Given the description of an element on the screen output the (x, y) to click on. 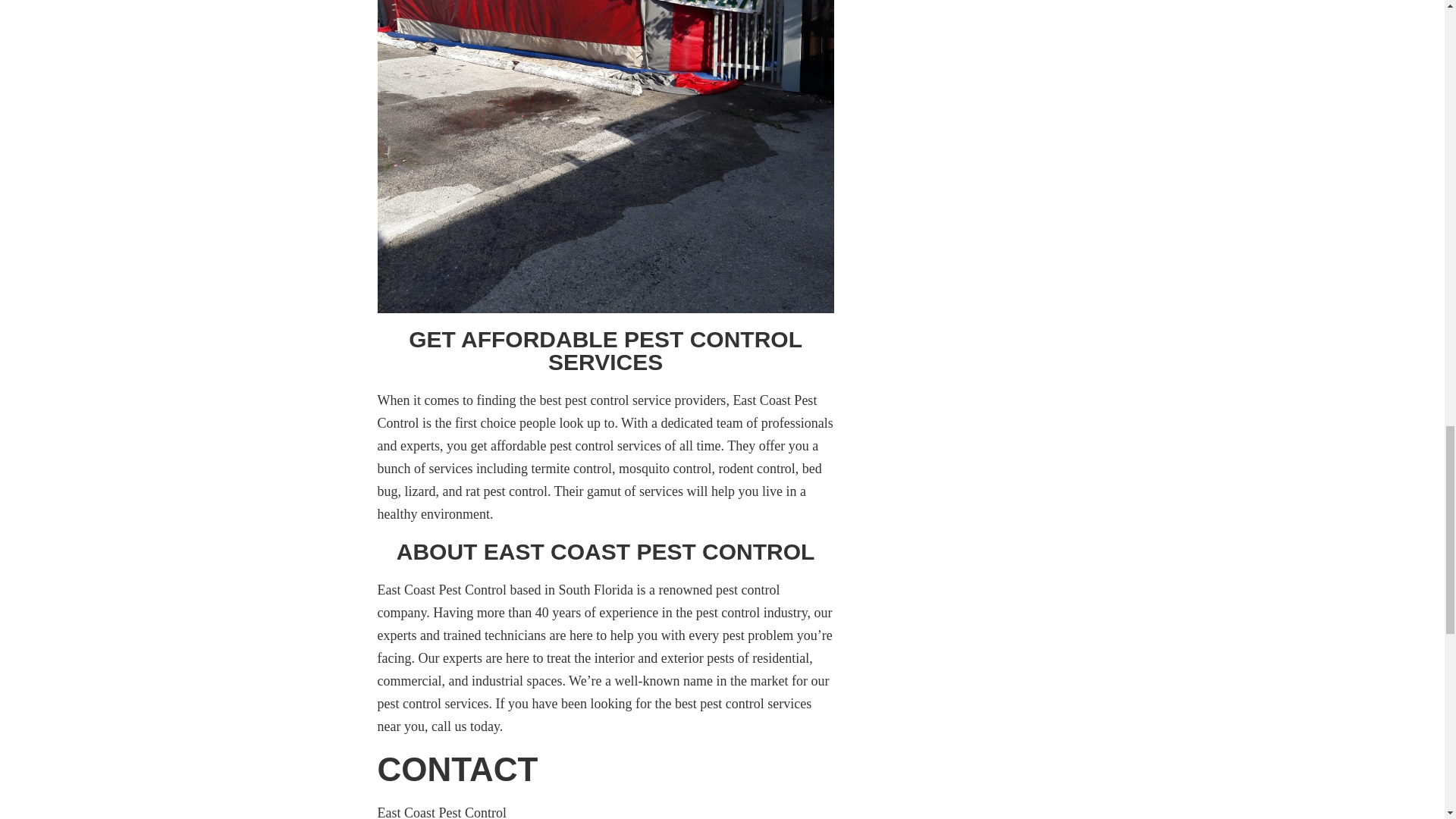
East Coast Pest Control  (444, 812)
